Given the description of an element on the screen output the (x, y) to click on. 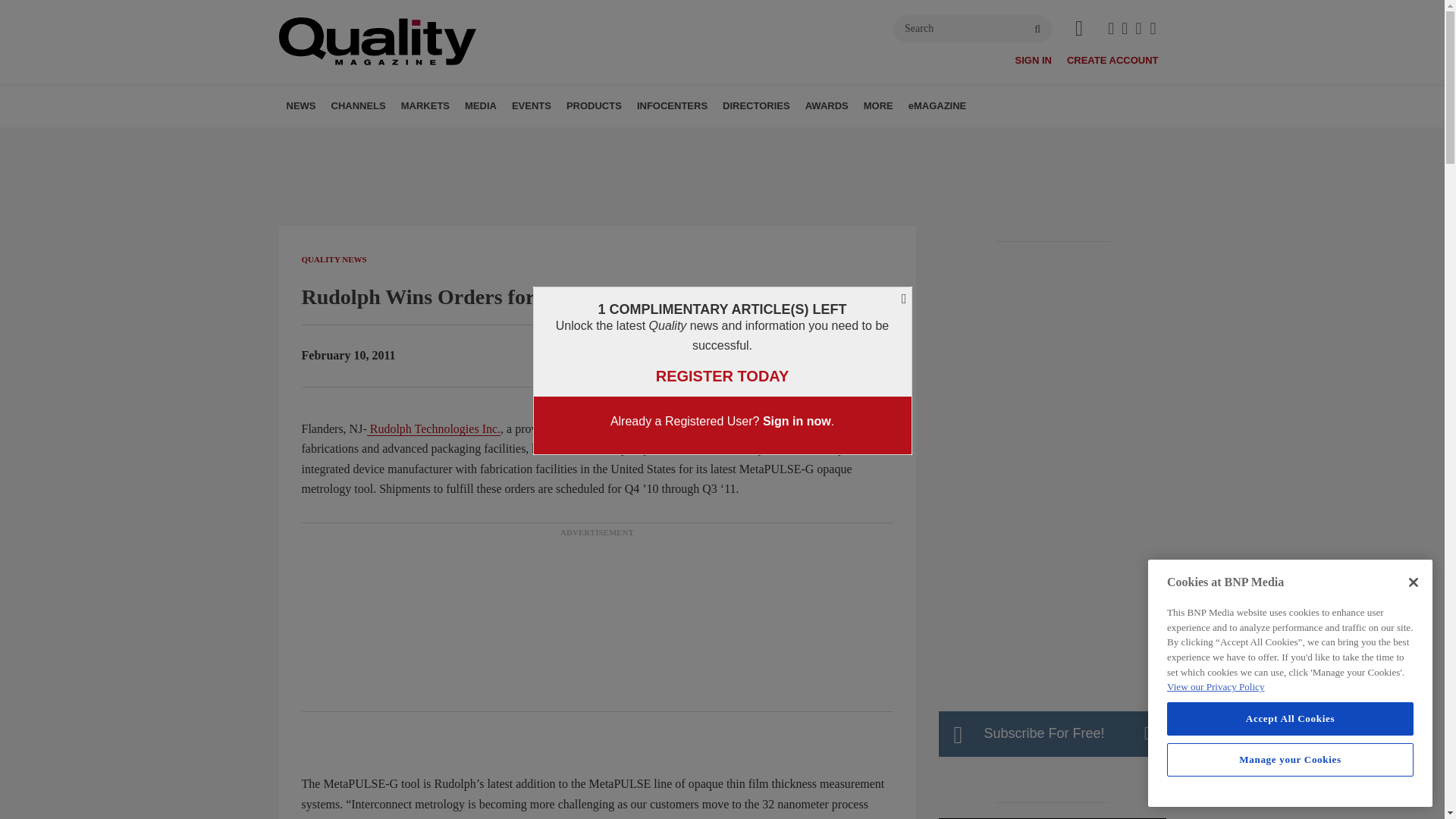
Search (972, 28)
Search (972, 28)
